Given the description of an element on the screen output the (x, y) to click on. 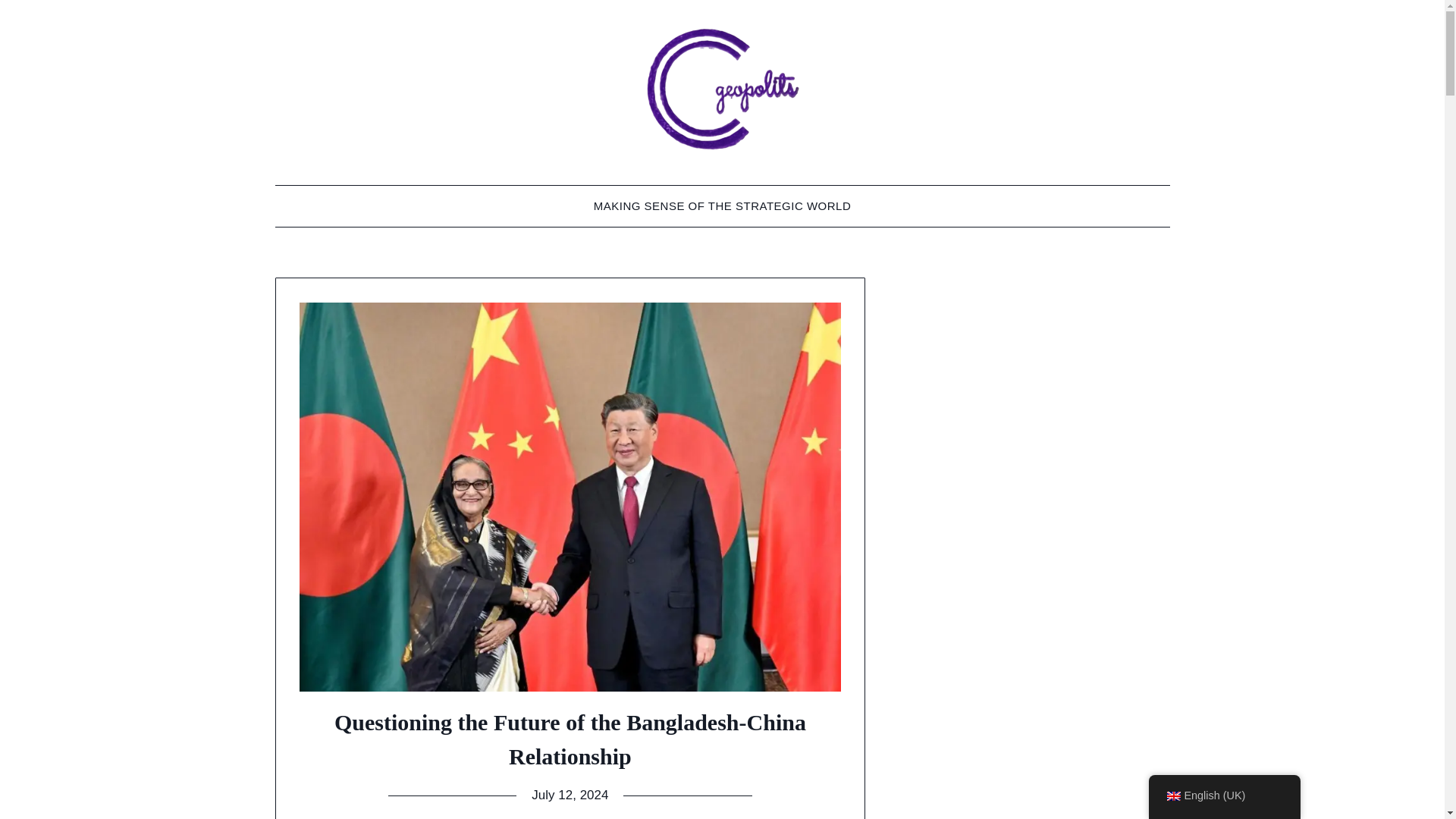
Questioning the Future of the Bangladesh-China Relationship (570, 739)
July 12, 2024 (569, 794)
MAKING SENSE OF THE STRATEGIC WORLD (721, 205)
